Given the description of an element on the screen output the (x, y) to click on. 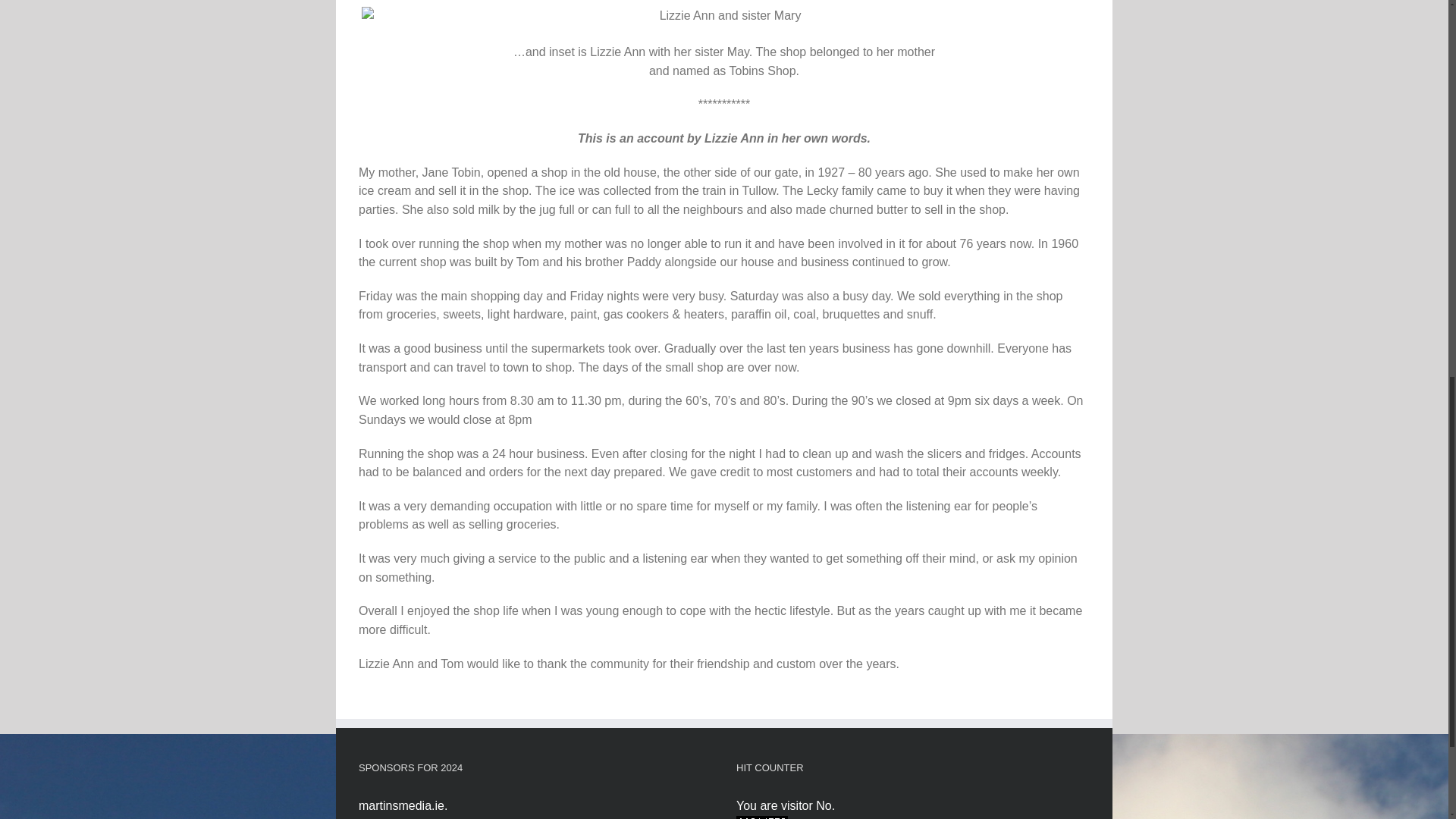
wordpress statistics (761, 818)
